Given the description of an element on the screen output the (x, y) to click on. 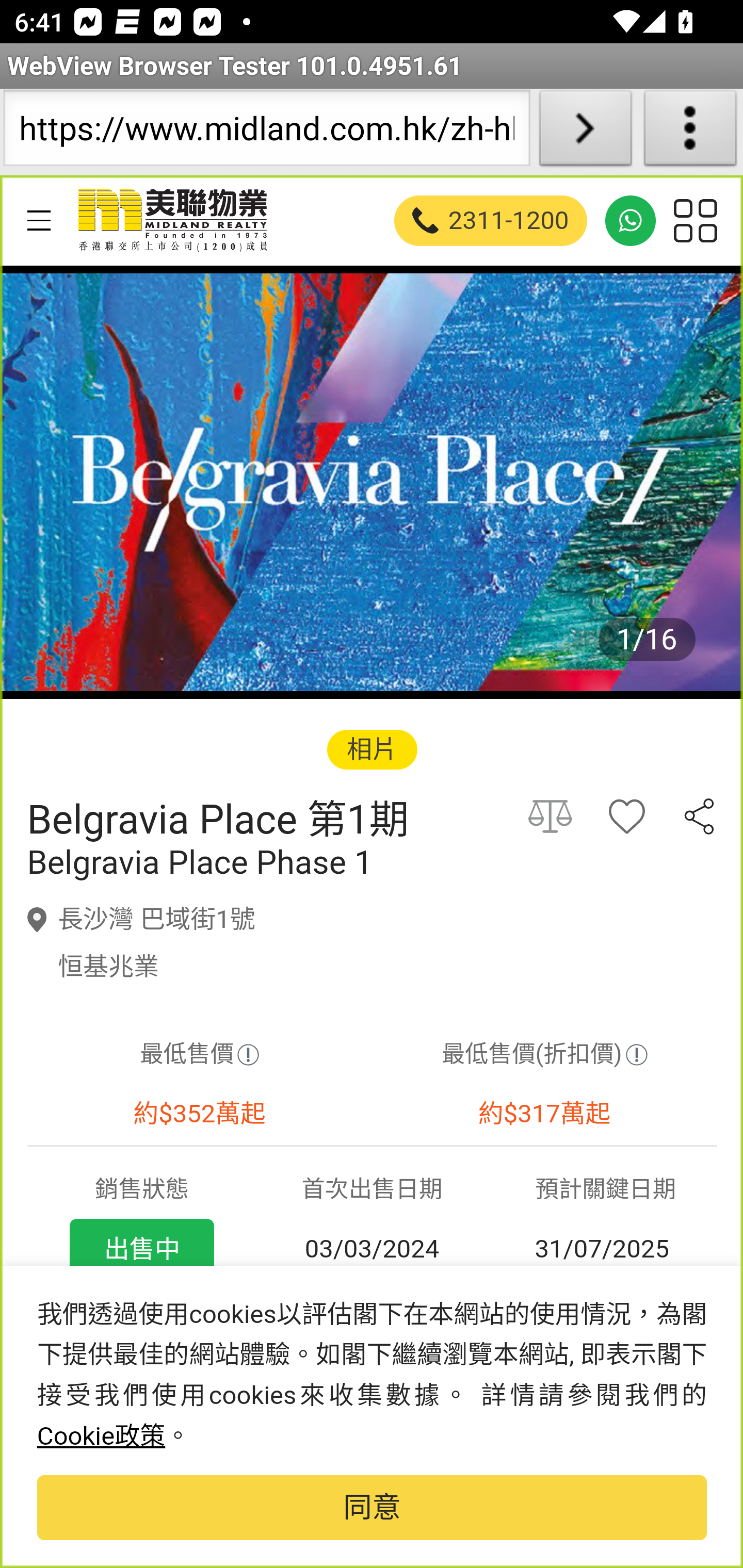
Load URL (585, 132)
About WebView (690, 132)
美聯物業 - 香港地產代理 (171, 220)
相片 (372, 749)
長沙灣 巴域街1號 (156, 918)
最低售價 (199, 1054)
最低售價(折扣價) (543, 1054)
出售中 (141, 1249)
